Given the description of an element on the screen output the (x, y) to click on. 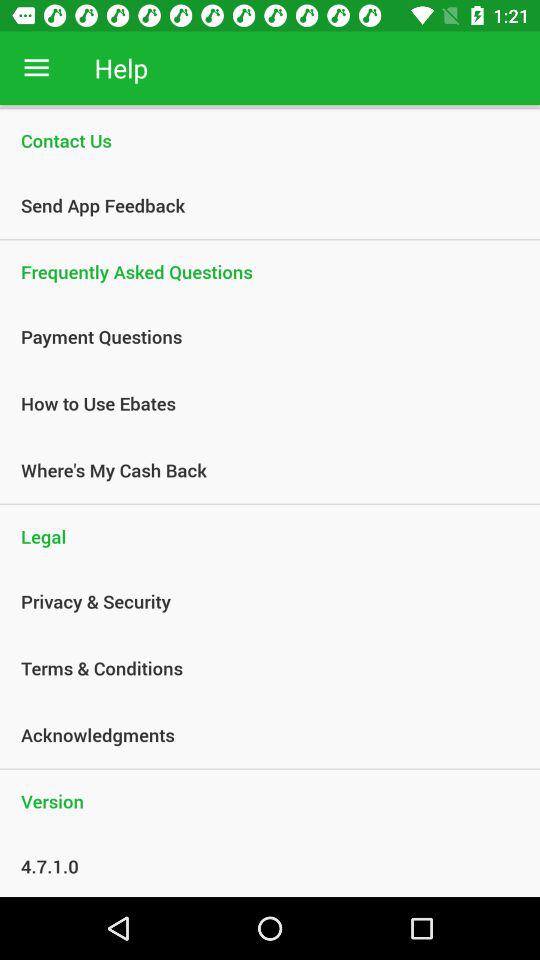
turn on legal (270, 536)
